Given the description of an element on the screen output the (x, y) to click on. 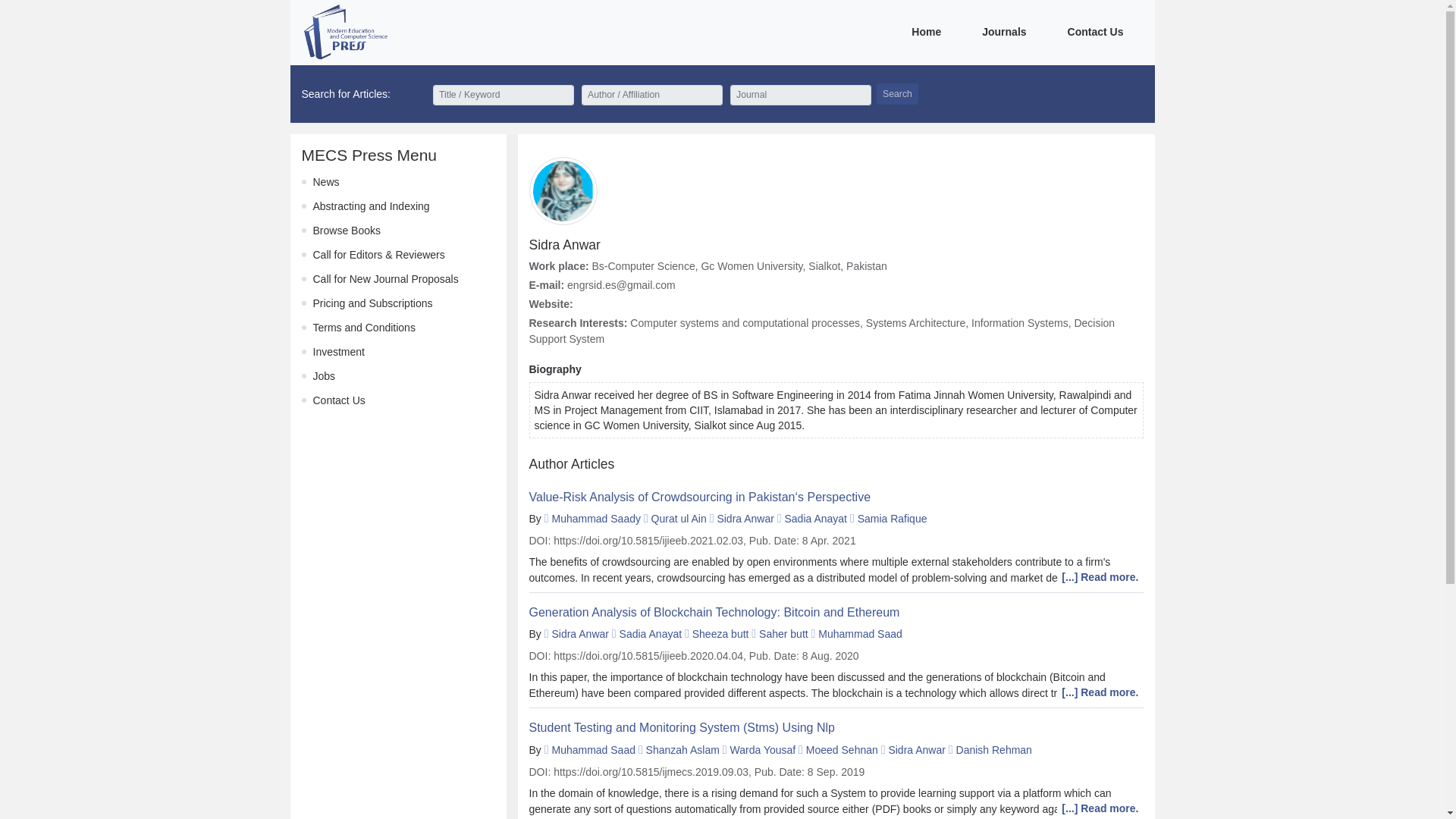
Browse Books (346, 230)
Shanzah Aslam (682, 749)
Sidra Anwar (916, 749)
Samia Rafique (892, 518)
Muhammad Saady (595, 518)
Sidra Anwar (579, 633)
Muhammad Saad (592, 749)
Danish Rehman (994, 749)
Sheeza butt (721, 633)
